Given the description of an element on the screen output the (x, y) to click on. 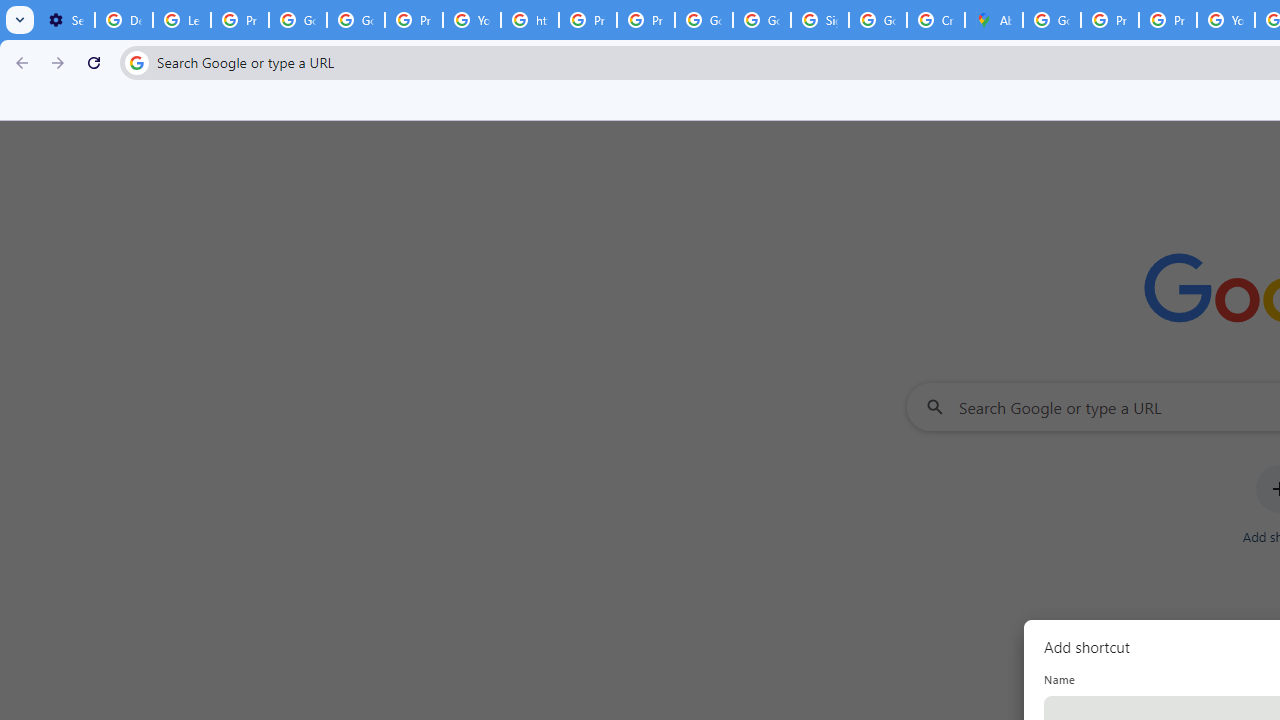
YouTube (1225, 20)
YouTube (471, 20)
Google Account Help (297, 20)
Privacy Help Center - Policies Help (1167, 20)
Settings - On startup (65, 20)
Privacy Help Center - Policies Help (587, 20)
Privacy Help Center - Policies Help (1110, 20)
